Given the description of an element on the screen output the (x, y) to click on. 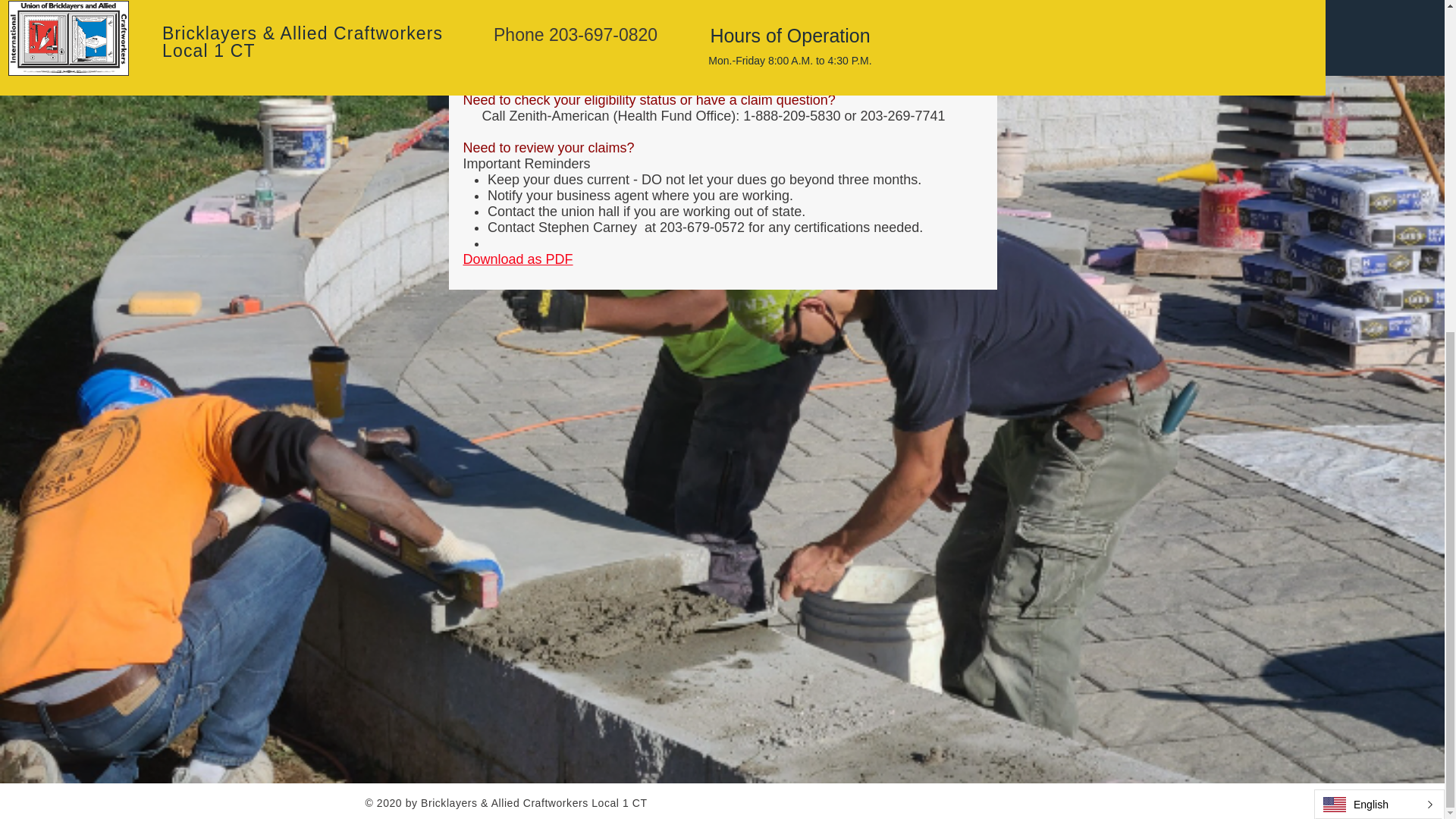
www.bacweb.org (590, 52)
Download as PDF (517, 258)
